Given the description of an element on the screen output the (x, y) to click on. 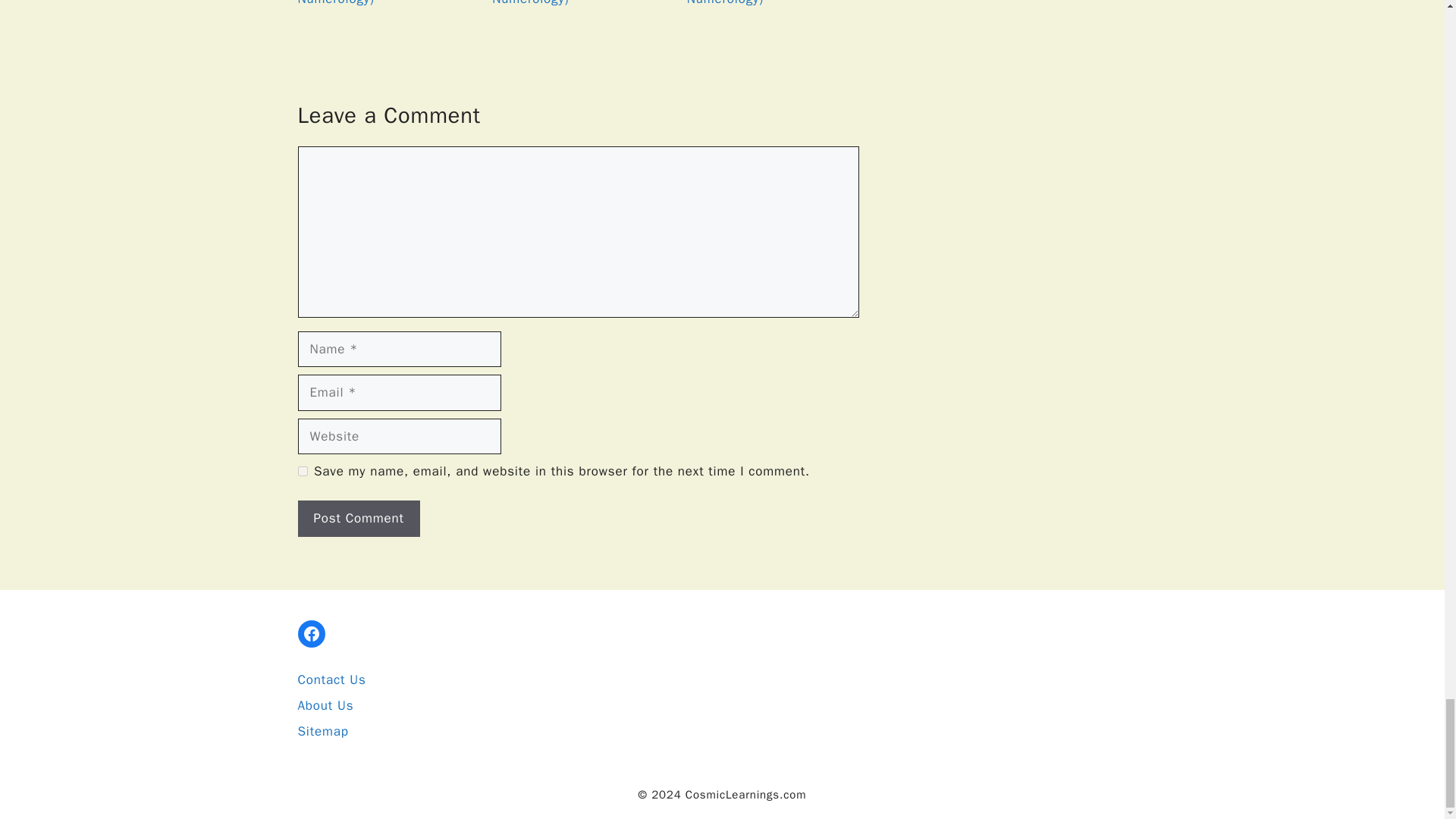
Post Comment (358, 518)
yes (302, 470)
